Given the description of an element on the screen output the (x, y) to click on. 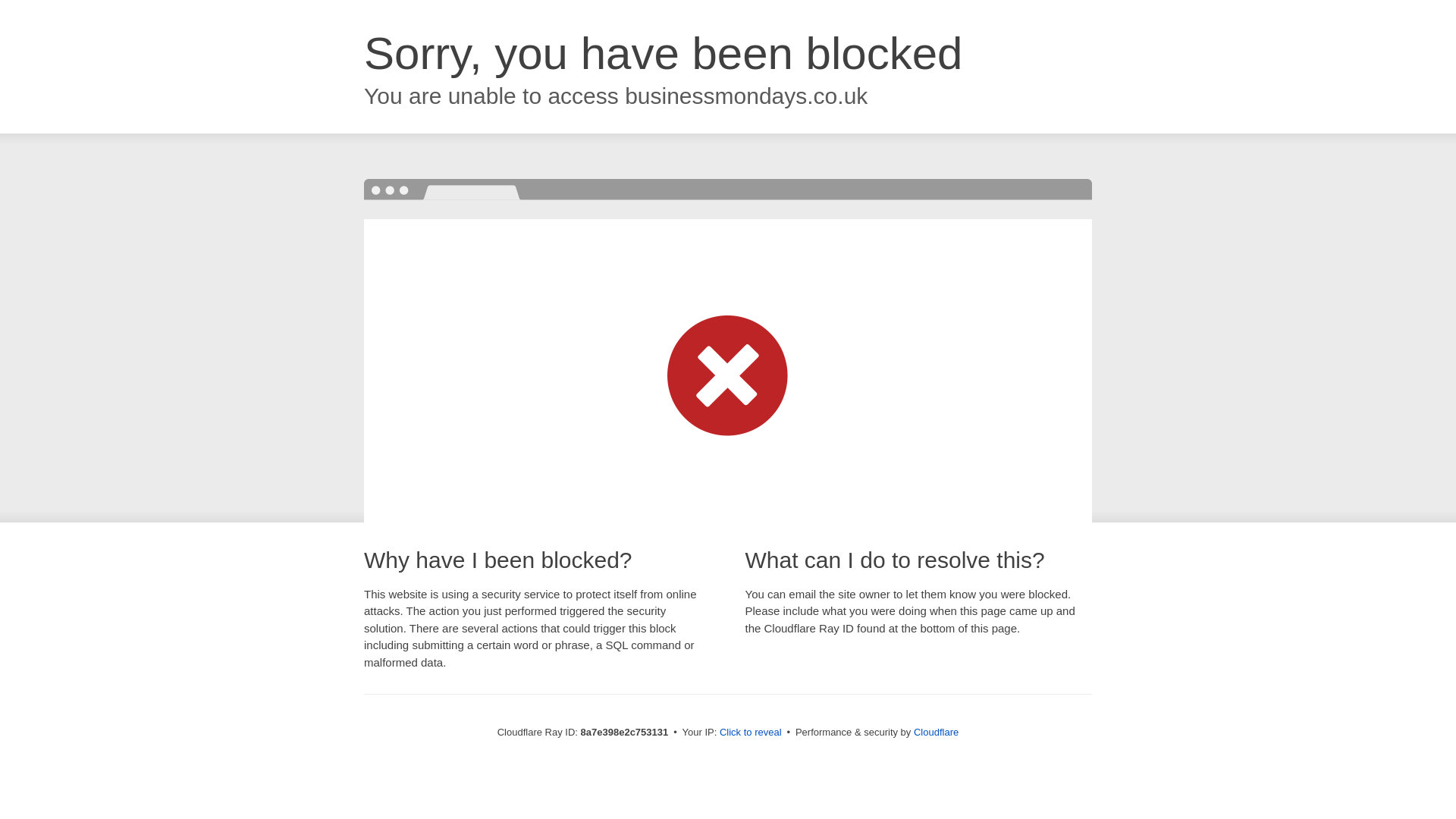
Cloudflare (936, 731)
Click to reveal (750, 732)
